Given the description of an element on the screen output the (x, y) to click on. 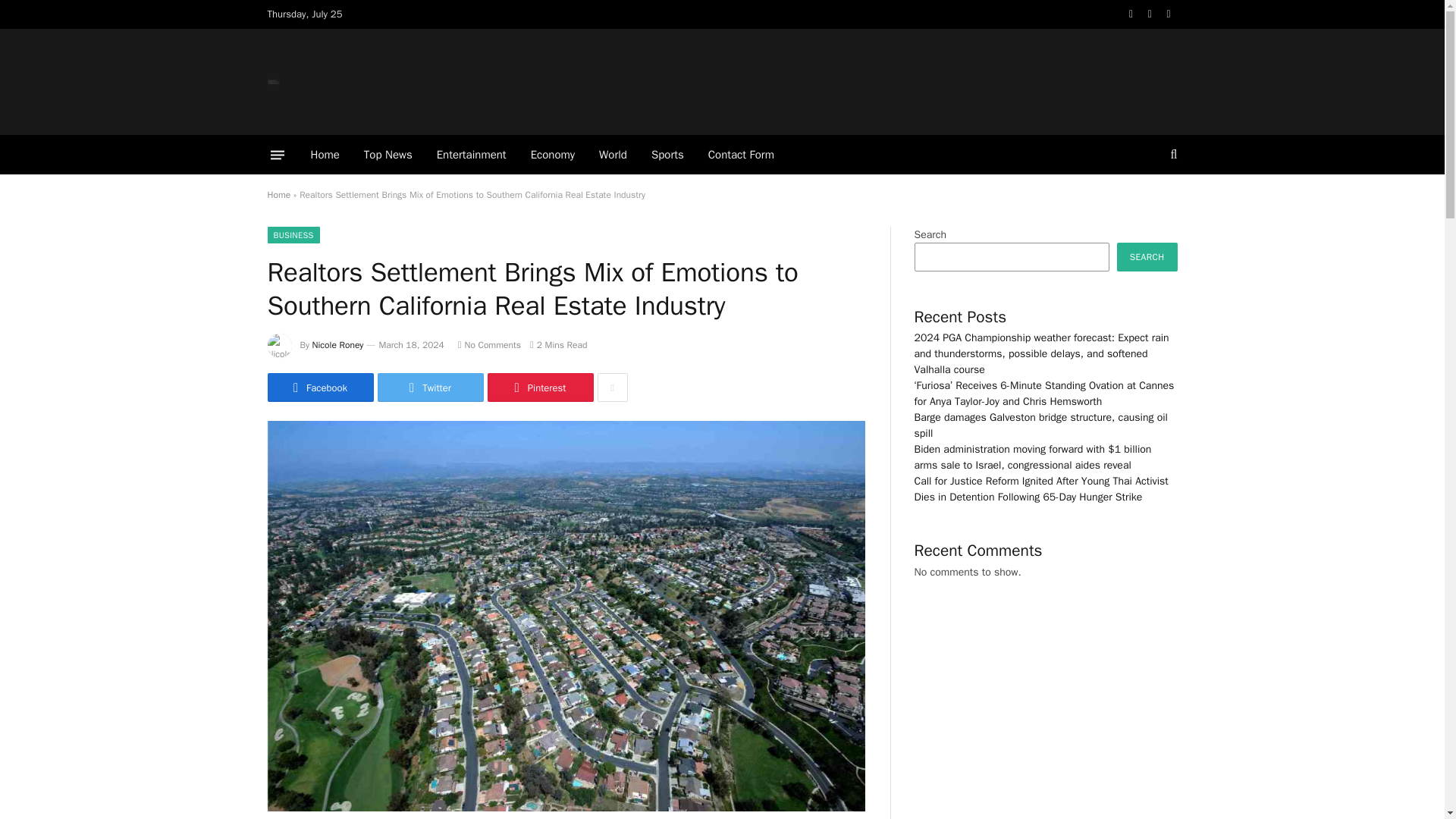
Contact Form (740, 154)
BUSINESS (292, 234)
Share on Facebook (319, 387)
Home (325, 154)
Nicole Roney (338, 345)
Twitter (430, 387)
Home (277, 194)
Entertainment (471, 154)
Sports (667, 154)
Share on Pinterest (539, 387)
No Comments (489, 345)
Pinterest (539, 387)
Top News (388, 154)
World (612, 154)
